Given the description of an element on the screen output the (x, y) to click on. 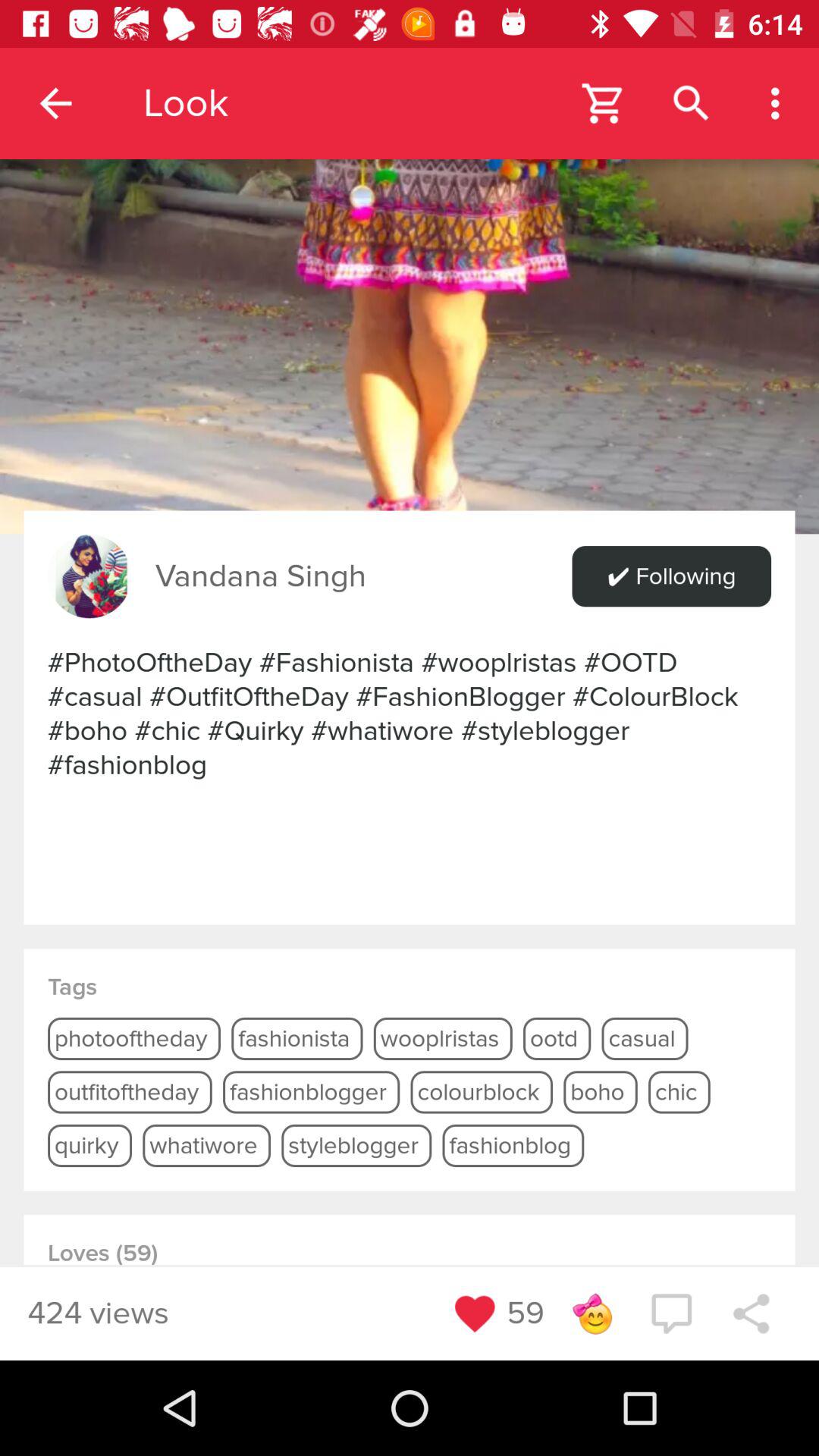
view photo (409, 267)
